Given the description of an element on the screen output the (x, y) to click on. 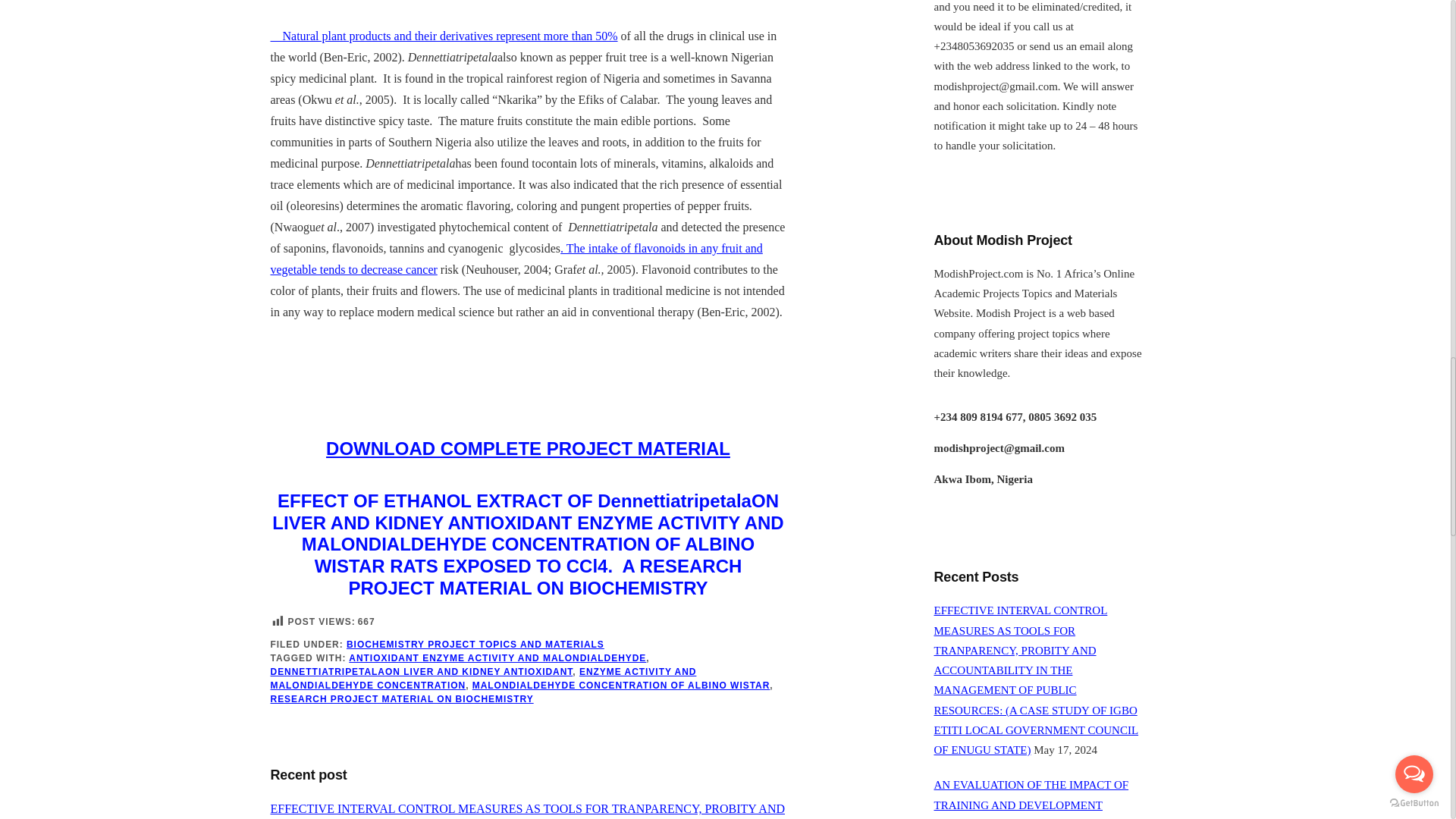
DOWNLOAD COMPLETE PROJECT MATERIAL (528, 448)
RESEARCH PROJECT MATERIAL ON BIOCHEMISTRY (400, 698)
ENZYME ACTIVITY AND MALONDIALDEHYDE CONCENTRATION (482, 678)
MALONDIALDEHYDE CONCENTRATION OF ALBINO WISTAR (620, 685)
BIOCHEMISTRY PROJECT TOPICS AND MATERIALS (475, 644)
DENNETTIATRIPETALAON LIVER AND KIDNEY ANTIOXIDANT (420, 671)
ANTIOXIDANT ENZYME ACTIVITY AND MALONDIALDEHYDE (497, 657)
